Given the description of an element on the screen output the (x, y) to click on. 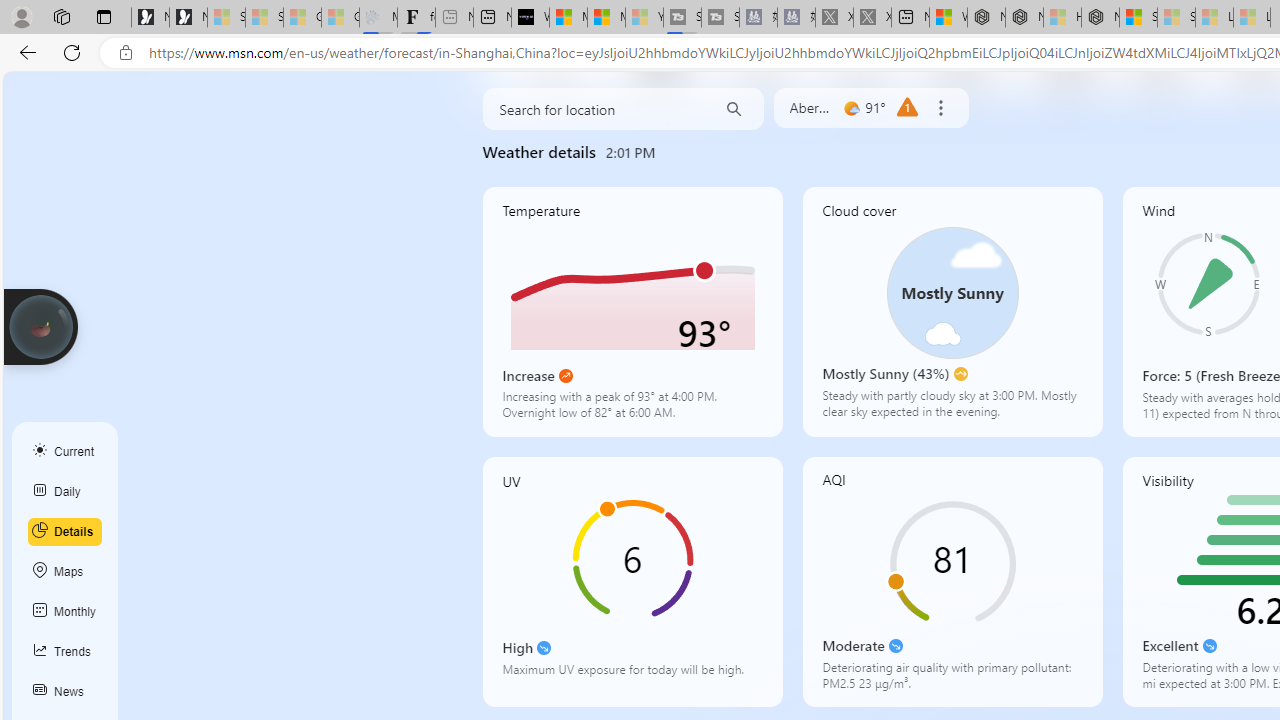
Increase (565, 375)
Search for location (594, 108)
Daily (65, 492)
UV (632, 582)
AQI (952, 582)
Trends (65, 651)
